Given the description of an element on the screen output the (x, y) to click on. 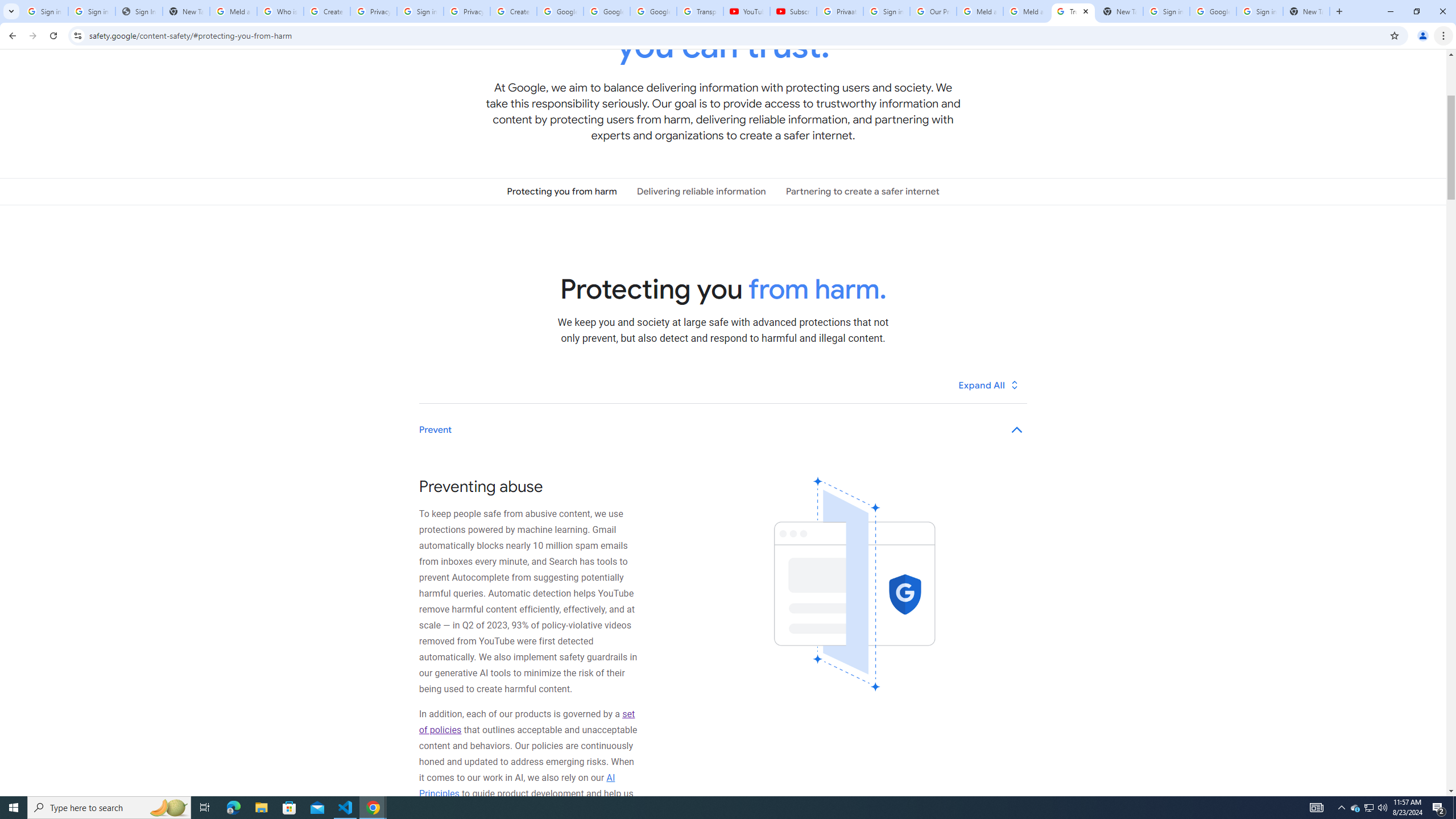
New Tab (1306, 11)
Protecting you from harm (561, 191)
Partnering to create a safer internet (862, 191)
Sign in - Google Accounts (1166, 11)
Create your Google Account (512, 11)
Expand All (988, 384)
Sign in - Google Accounts (91, 11)
set of policies (526, 721)
